Given the description of an element on the screen output the (x, y) to click on. 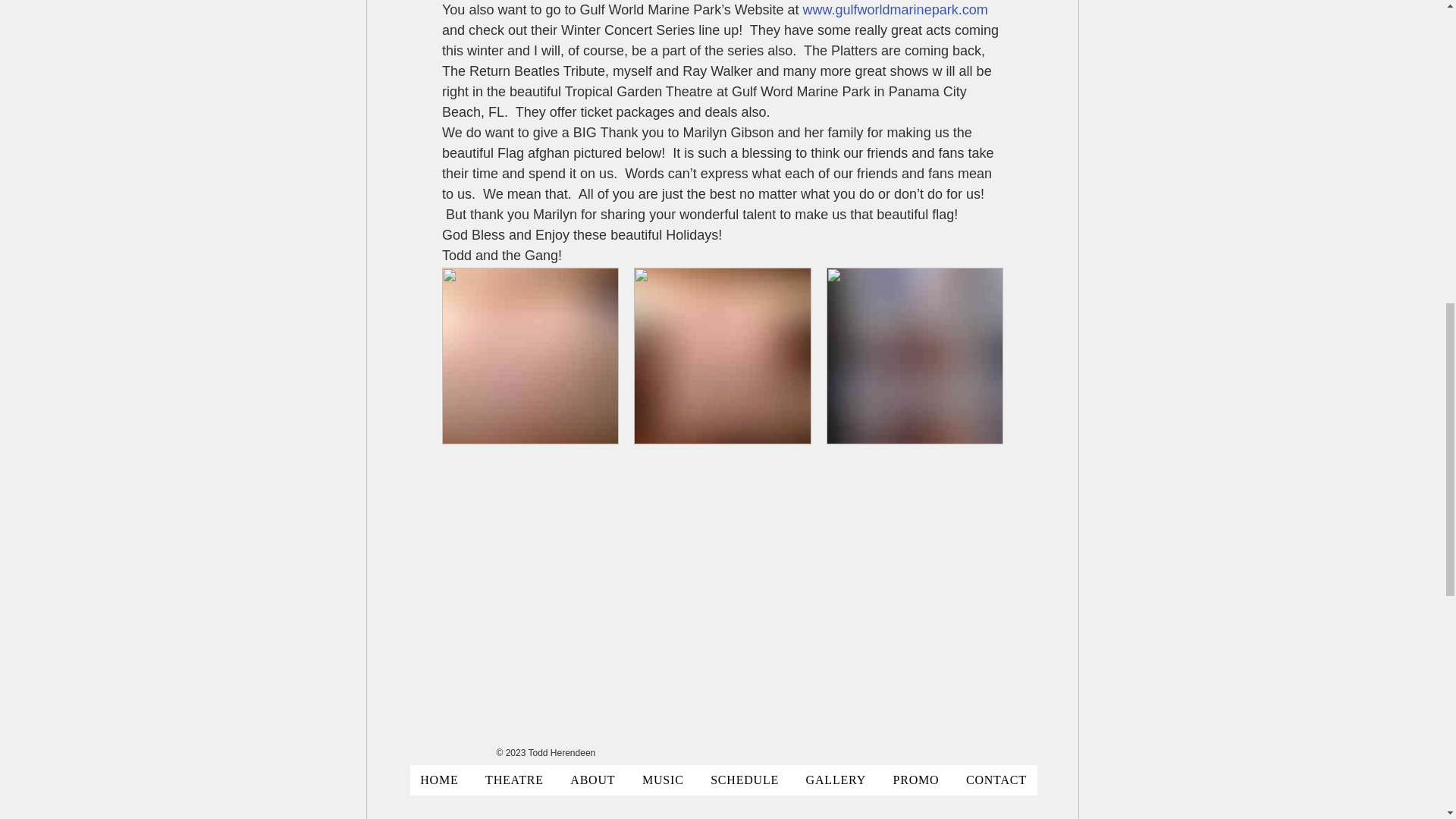
www.gulfworldmarinepark.com (894, 9)
